Given the description of an element on the screen output the (x, y) to click on. 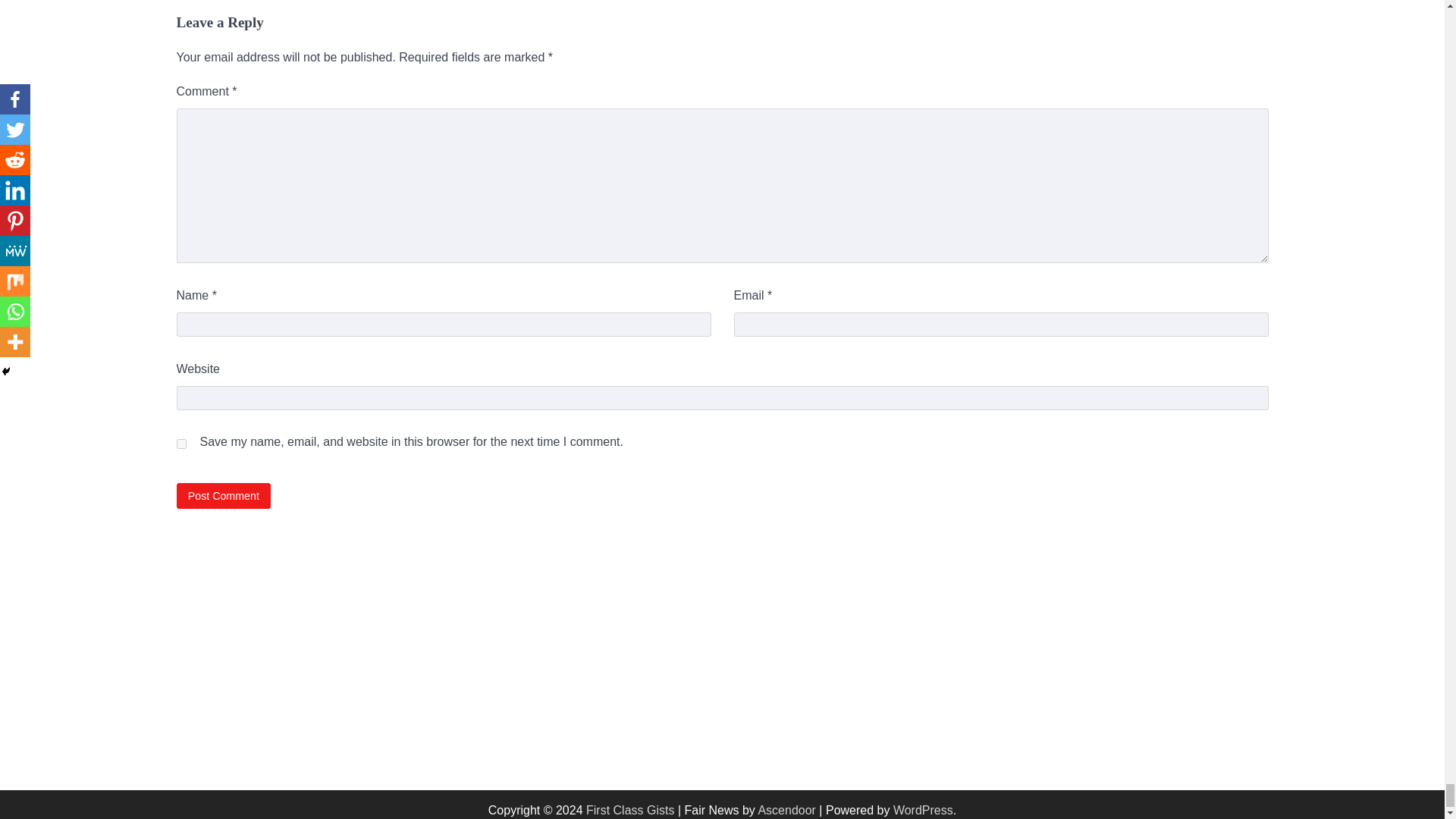
Post Comment (223, 495)
yes (181, 443)
